Given the description of an element on the screen output the (x, y) to click on. 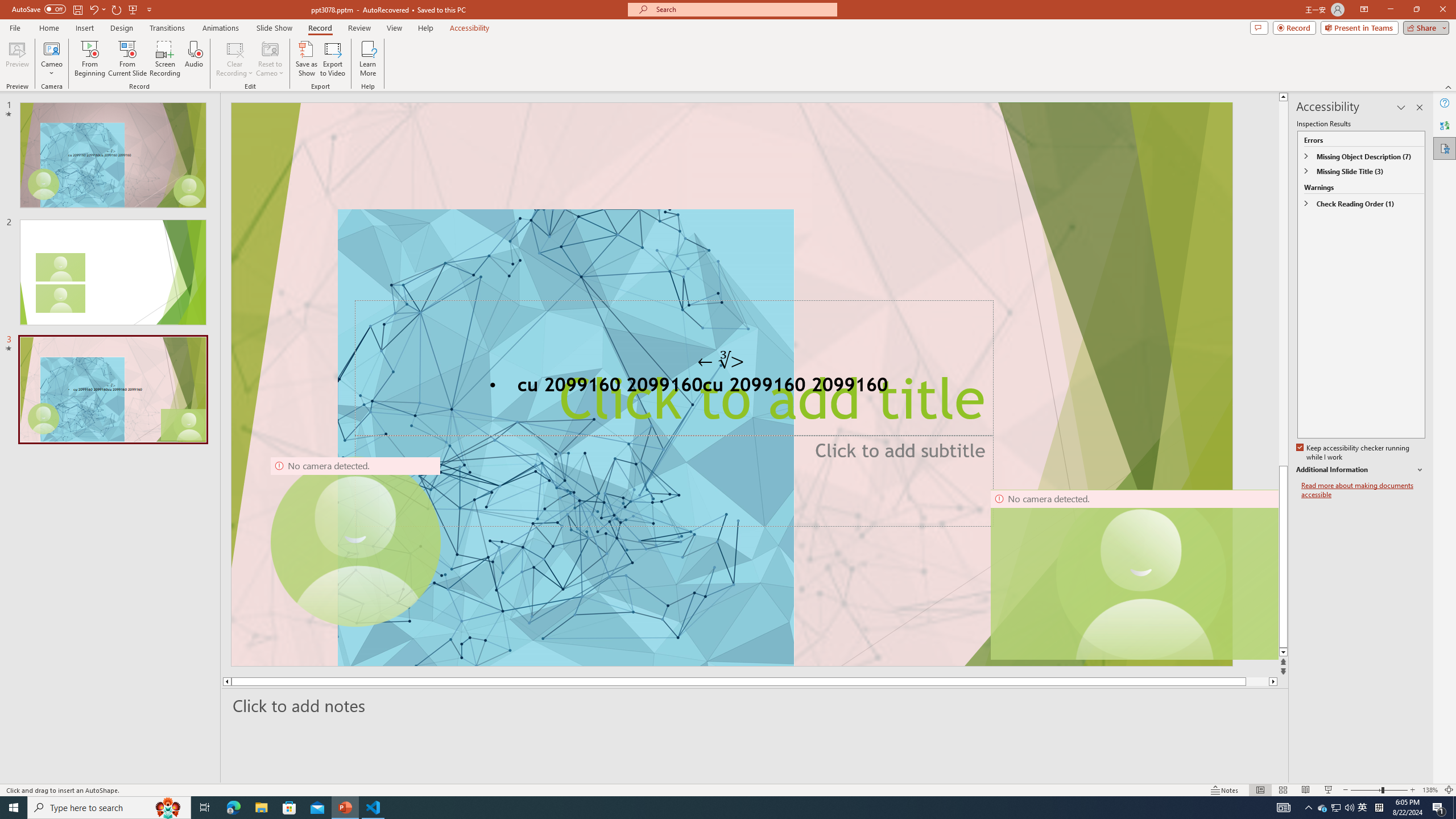
Cameo (51, 58)
Learn More (368, 58)
Additional Information (1360, 469)
Zoom 138% (1430, 790)
Audio (193, 58)
From Current Slide... (127, 58)
Export to Video (332, 58)
Translator (1444, 125)
Title TextBox (673, 368)
